Given the description of an element on the screen output the (x, y) to click on. 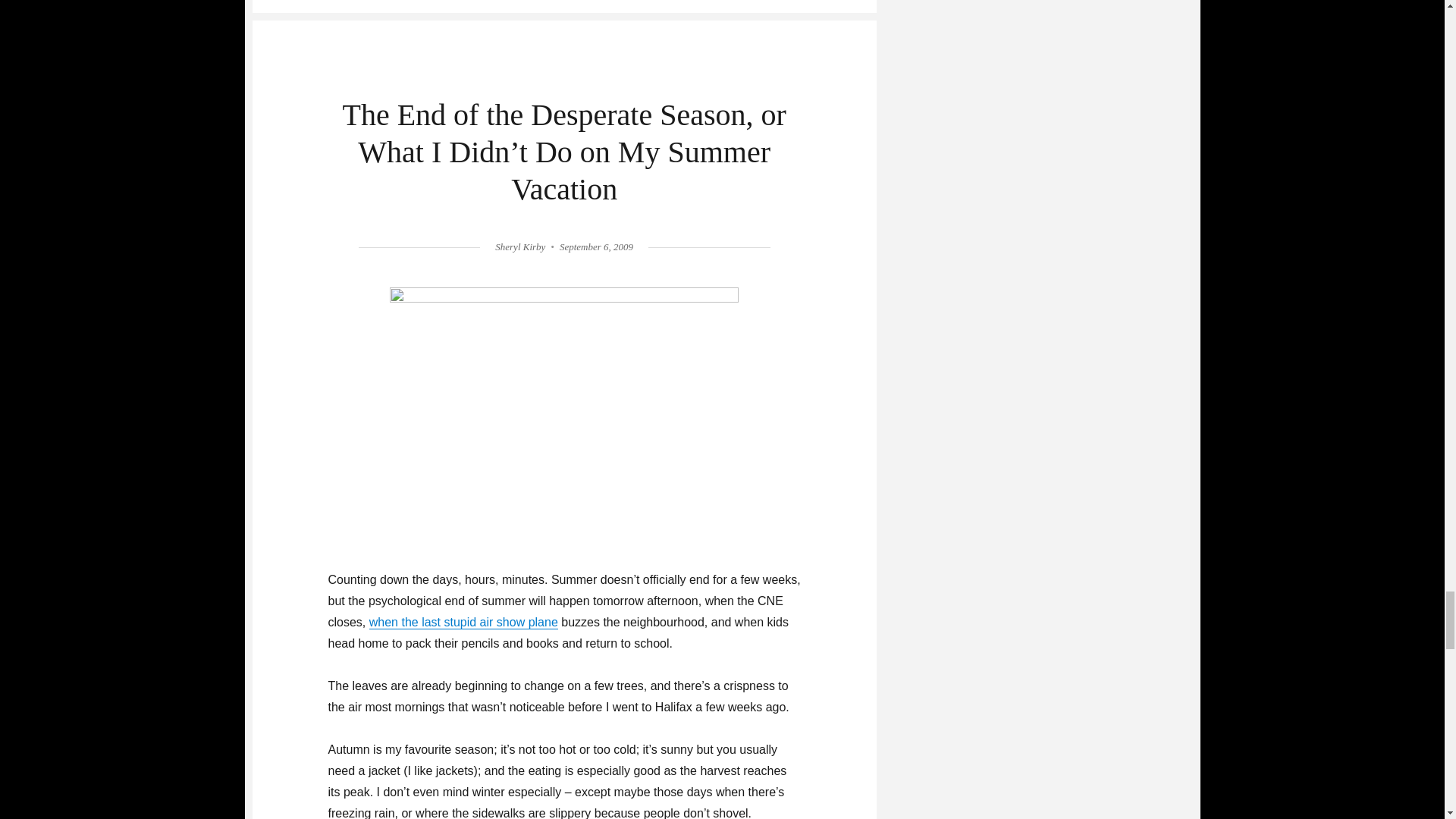
comorant (564, 417)
